Given the description of an element on the screen output the (x, y) to click on. 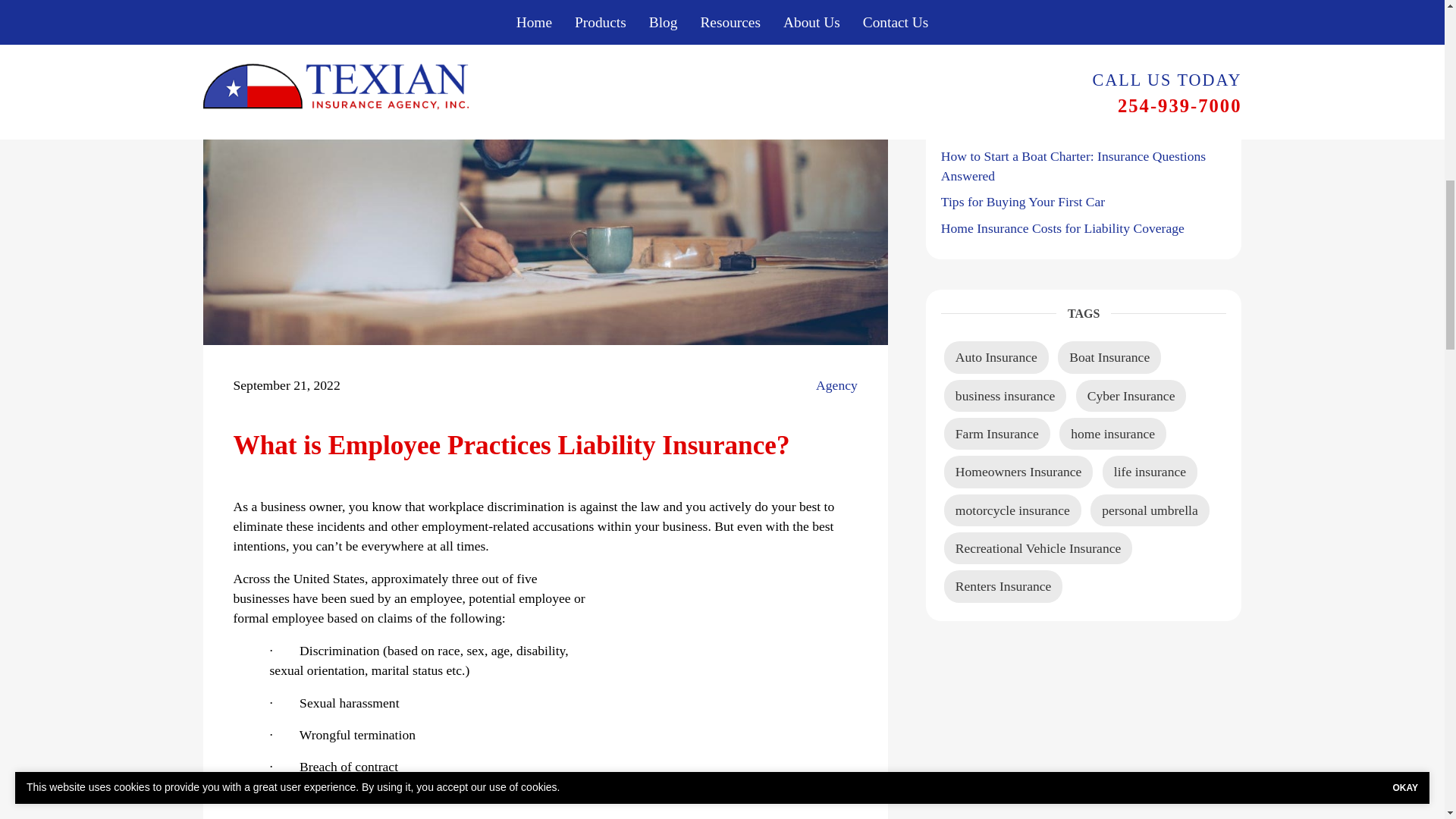
Agency (836, 384)
Tips for Buying Your First Car (1022, 201)
Home Insurance Costs for Liability Coverage (1062, 227)
Is Whole Life Insurance Better than Term Life Insurance? (1064, 93)
Monitor Your Changing Renters Insurance Needs (1072, 129)
How to Start a Boat Charter: Insurance Questions Answered (1072, 165)
Agency (836, 384)
